Given the description of an element on the screen output the (x, y) to click on. 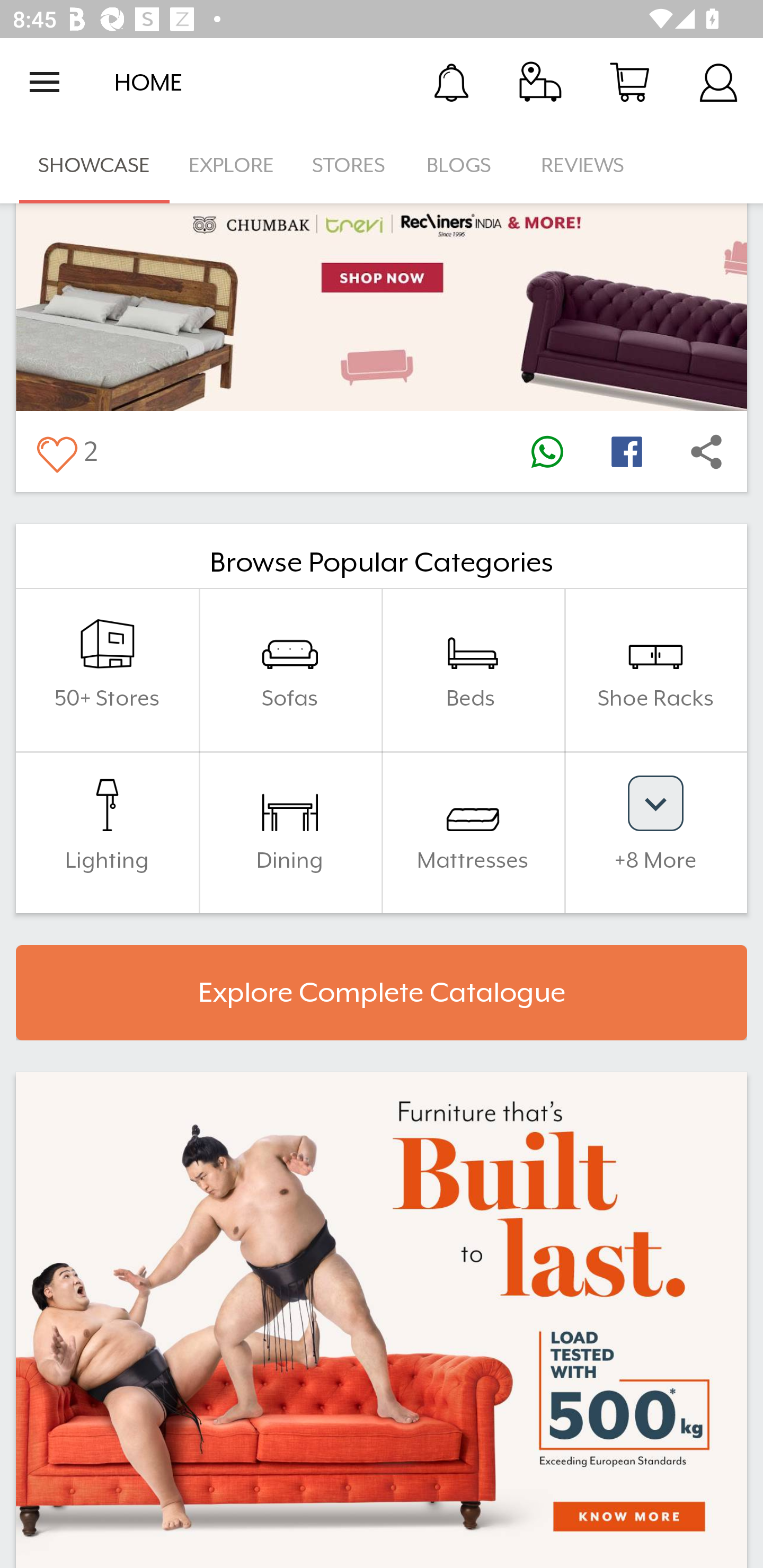
Open navigation drawer (44, 82)
Notification (450, 81)
Track Order (540, 81)
Cart (629, 81)
Account Details (718, 81)
SHOWCASE (94, 165)
EXPLORE (230, 165)
STORES (349, 165)
BLOGS (464, 165)
REVIEWS (582, 165)
 (55, 451)
 (547, 451)
 (626, 451)
 (706, 451)
50+ Stores (106, 670)
Sofas (289, 670)
Beds  (473, 670)
Shoe Racks (655, 670)
Lighting (106, 831)
Dining (289, 831)
Mattresses (473, 831)
 +8 More (655, 831)
Explore Complete Catalogue (381, 993)
